Given the description of an element on the screen output the (x, y) to click on. 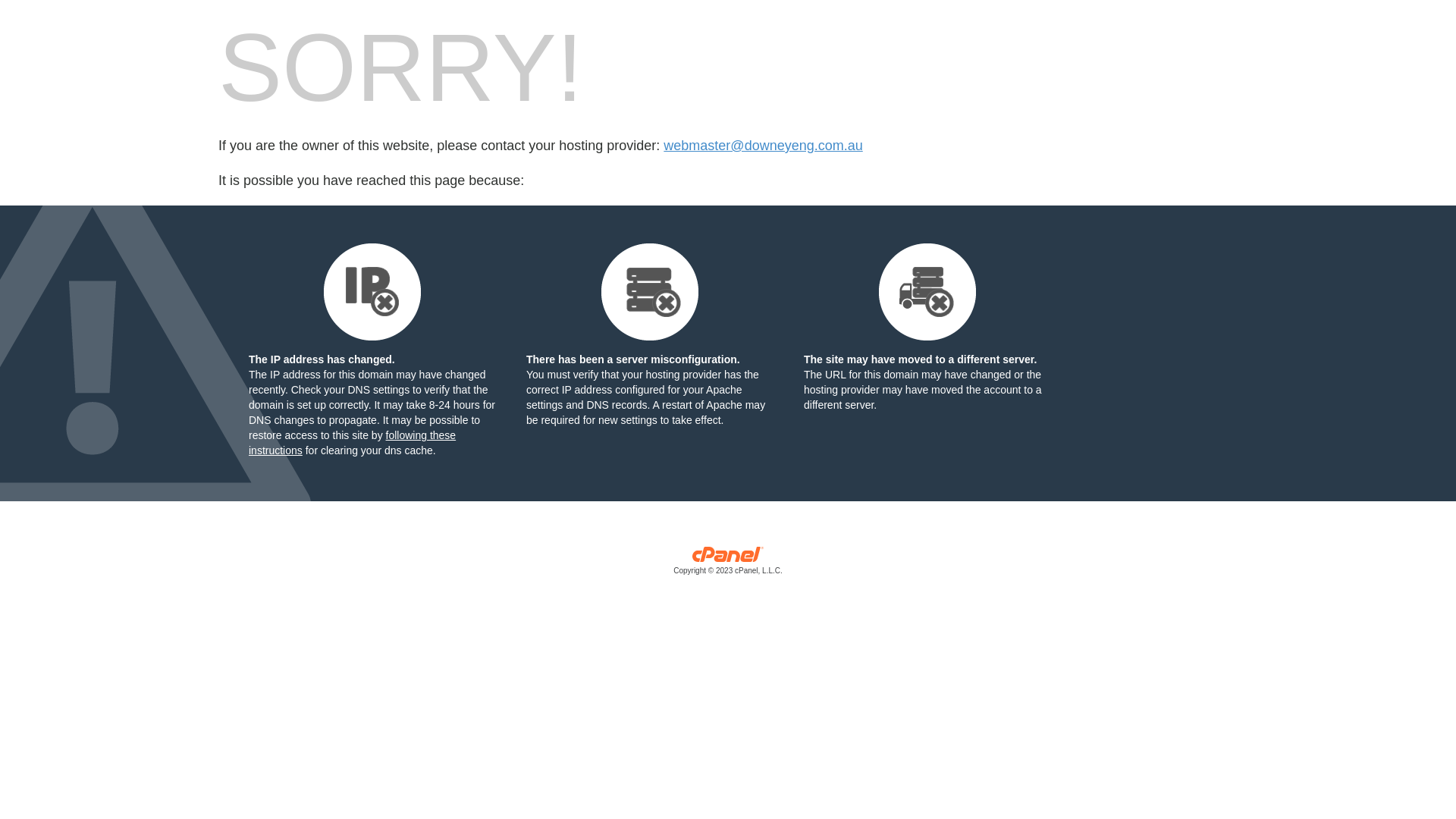
webmaster@downeyeng.com.au Element type: text (762, 145)
following these instructions Element type: text (351, 442)
